Given the description of an element on the screen output the (x, y) to click on. 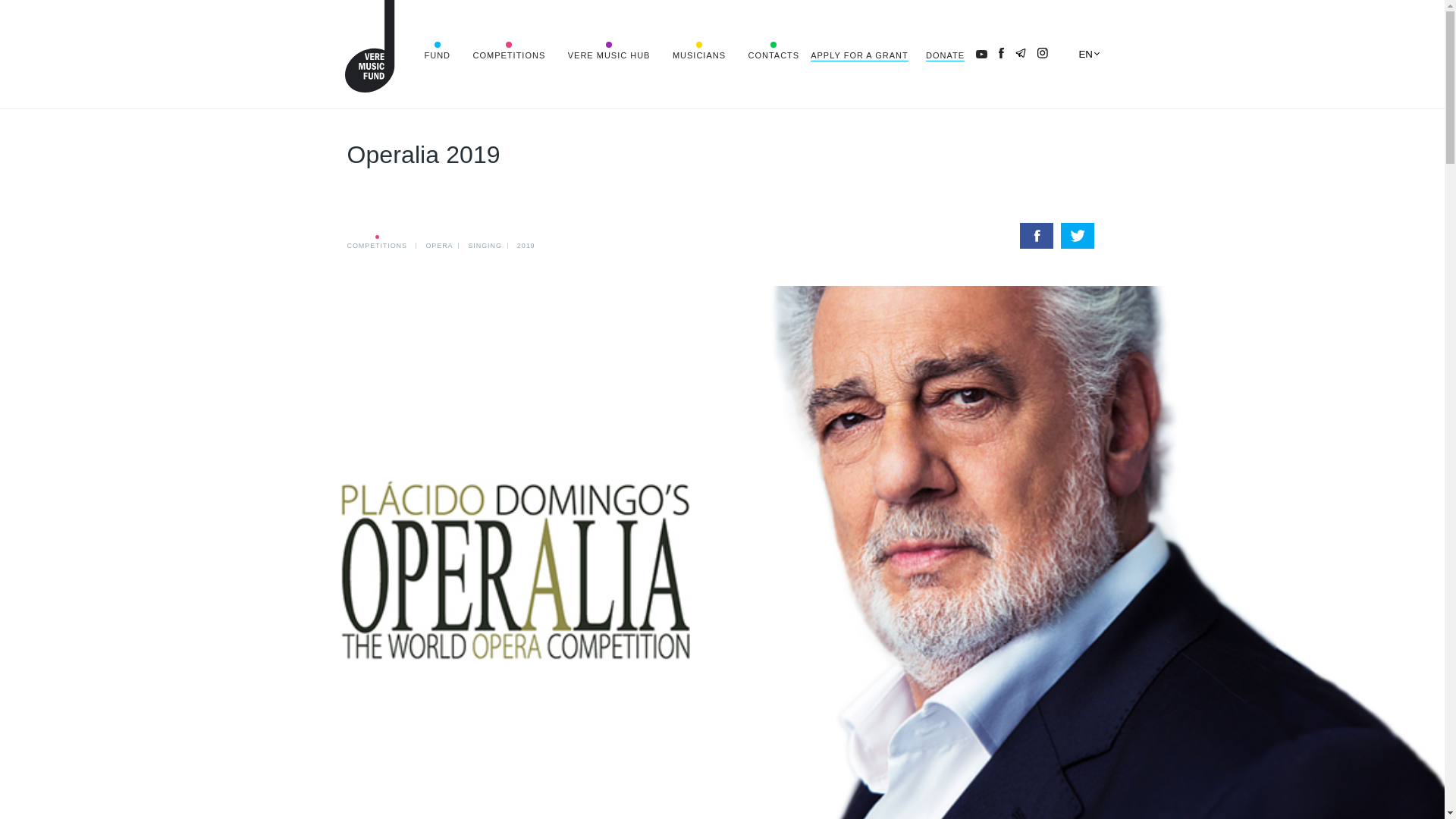
CONTACTS (773, 53)
FUND (438, 53)
MUSICIANS (698, 53)
COMPETITIONS (509, 53)
DONATE (944, 53)
APPLY FOR A GRANT (858, 53)
VERE MUSIC HUB (608, 53)
